Given the description of an element on the screen output the (x, y) to click on. 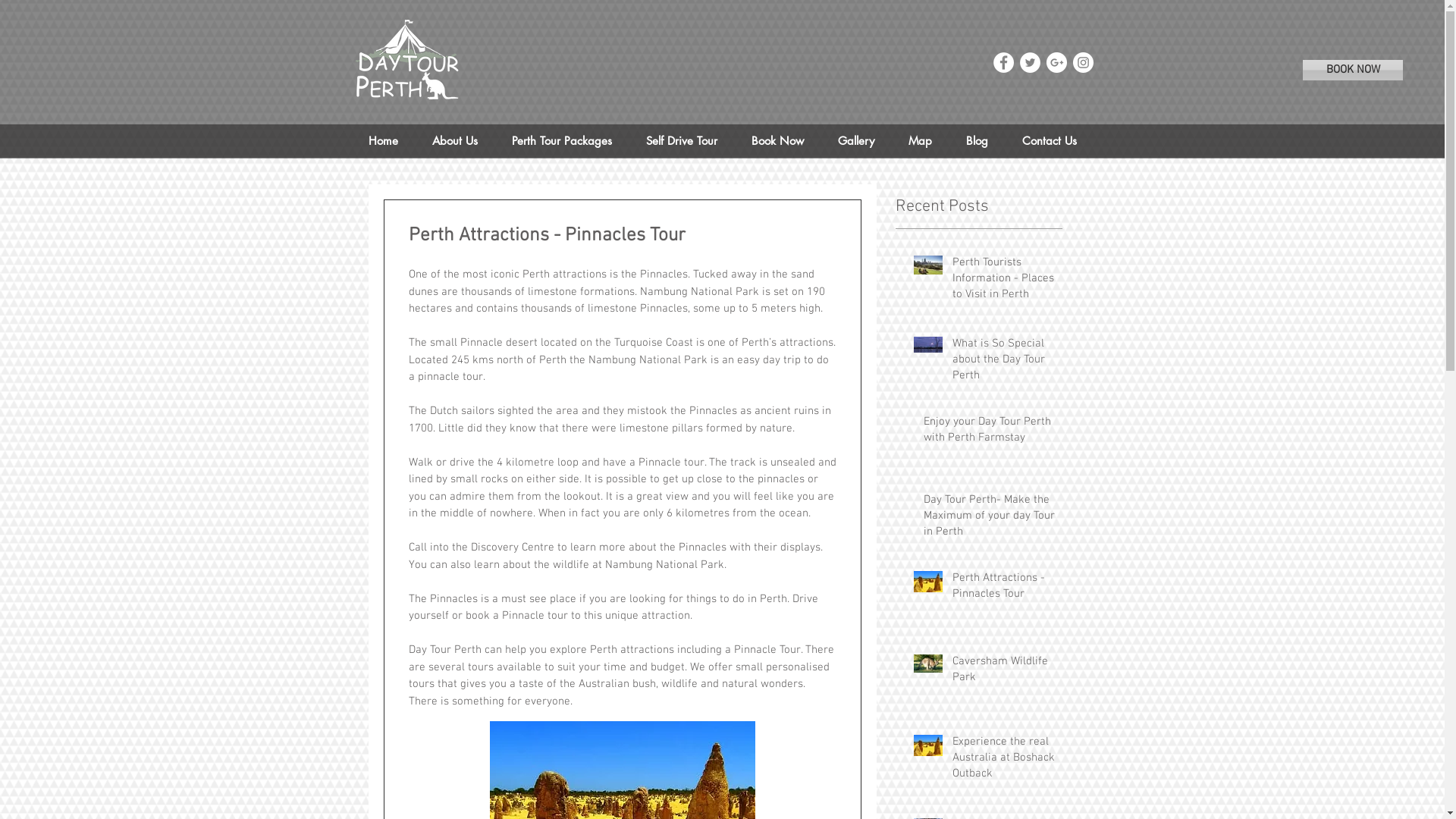
Contact Us Element type: text (1049, 140)
Self Drive Tour Element type: text (681, 140)
What is So Special about the Day Tour Perth Element type: text (1006, 362)
Map Element type: text (920, 140)
Experience the real Australia at Boshack Outback Element type: text (1006, 760)
Gallery Element type: text (855, 140)
Enjoy your Day Tour Perth with Perth Farmstay Element type: text (992, 432)
Caversham Wildlife Park Element type: text (1006, 672)
BOOK NOW Element type: text (1352, 69)
Book Now Element type: text (777, 140)
Perth Attractions - Pinnacles Tour Element type: text (1006, 589)
About Us Element type: text (455, 140)
Blog Element type: text (977, 140)
Day Tour Perth- Make the Maximum of your day Tour in Perth Element type: text (992, 519)
Home Element type: text (382, 140)
Perth Tour Packages Element type: text (561, 140)
Perth Tourists Information - Places to Visit in Perth Element type: text (1006, 281)
